Given the description of an element on the screen output the (x, y) to click on. 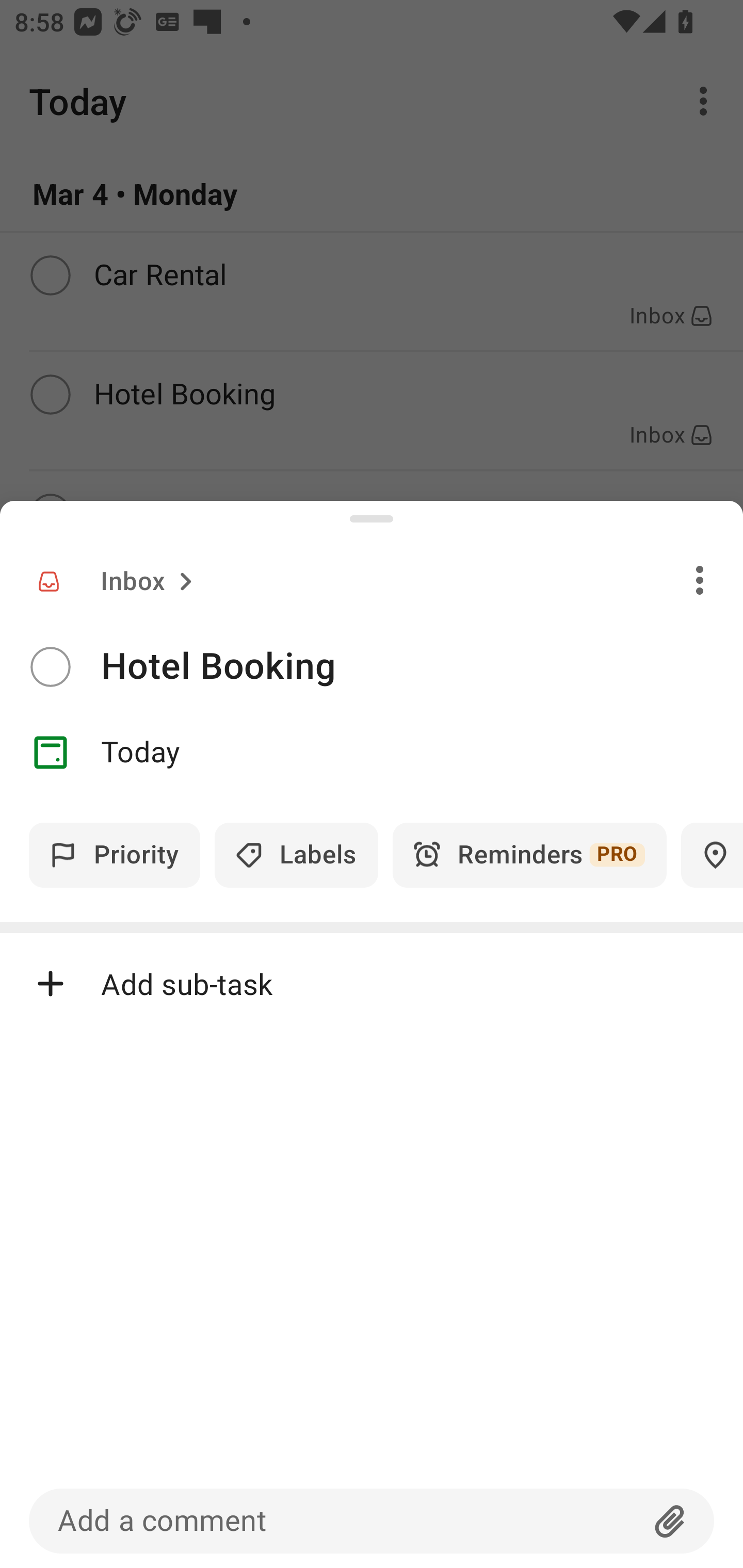
Overflow menu (699, 580)
Complete (50, 667)
Hotel Booking​ (422, 666)
Date Today (371, 752)
Priority (113, 855)
Labels (296, 855)
Reminders PRO (529, 855)
Locations PRO (712, 855)
Add sub-task (371, 983)
Add a comment Attachment (371, 1520)
Attachment (670, 1520)
